Given the description of an element on the screen output the (x, y) to click on. 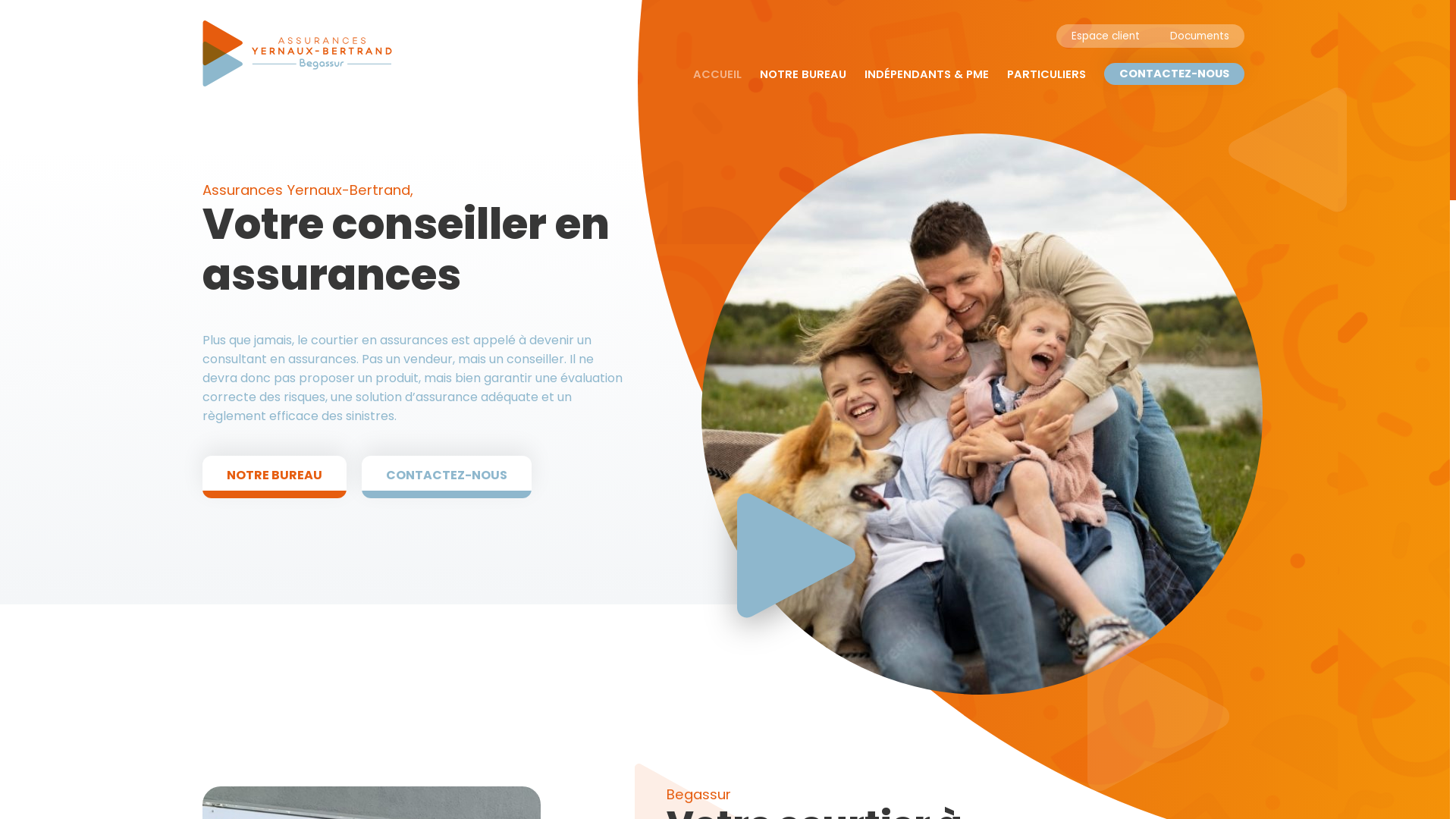
ACCUEIL Element type: text (717, 73)
CONTACTEZ-NOUS Element type: text (1174, 73)
NOTRE BUREAU Element type: text (274, 476)
Documents Element type: text (1199, 35)
PARTICULIERS Element type: text (1046, 73)
CONTACTEZ-NOUS Element type: text (446, 476)
NOTRE BUREAU Element type: text (802, 73)
Espace client Element type: text (1105, 35)
